Given the description of an element on the screen output the (x, y) to click on. 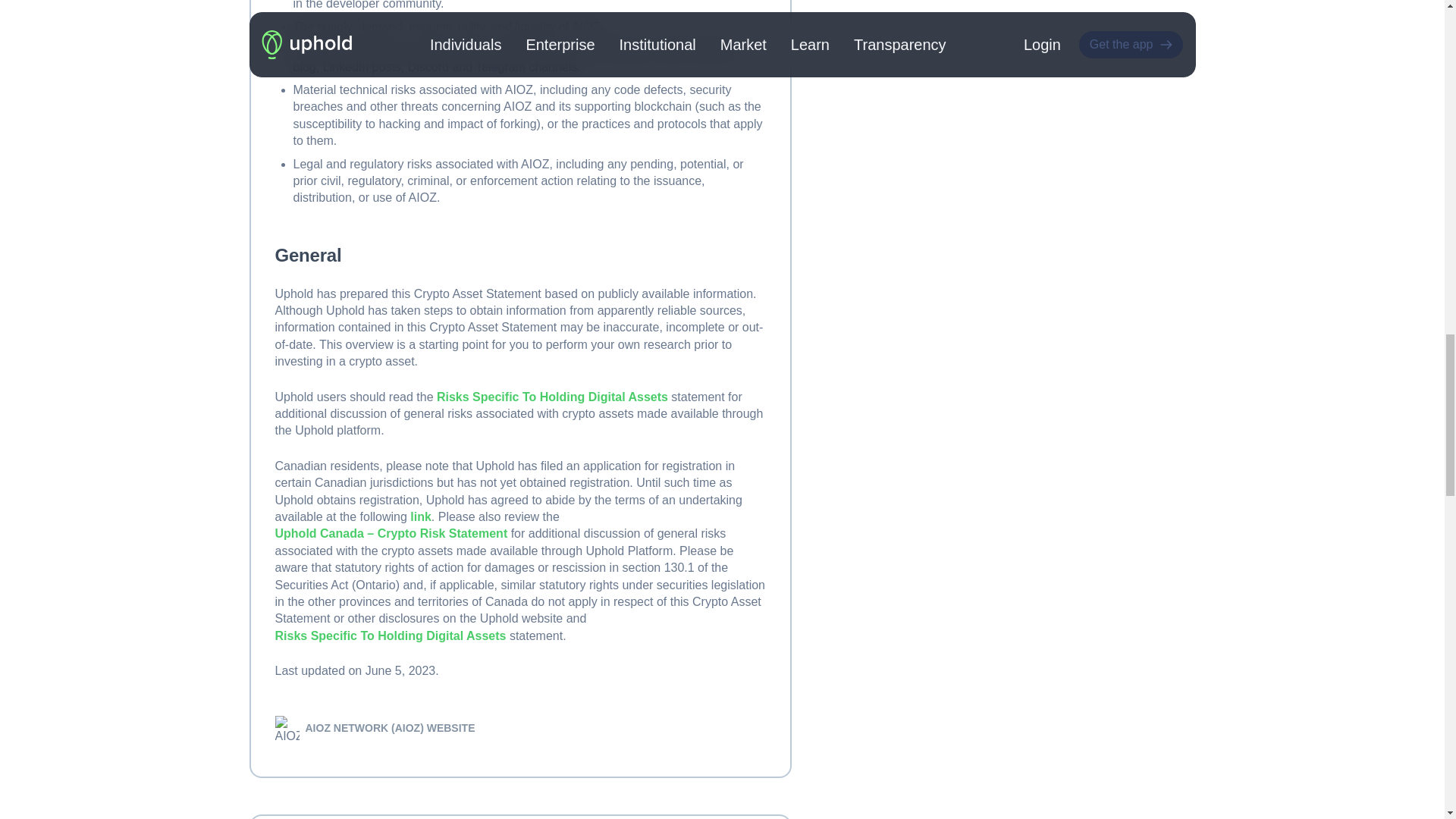
link (420, 516)
Risks Specific To Holding Digital Assets (390, 635)
Risks Specific To Holding Digital Assets (552, 396)
